Given the description of an element on the screen output the (x, y) to click on. 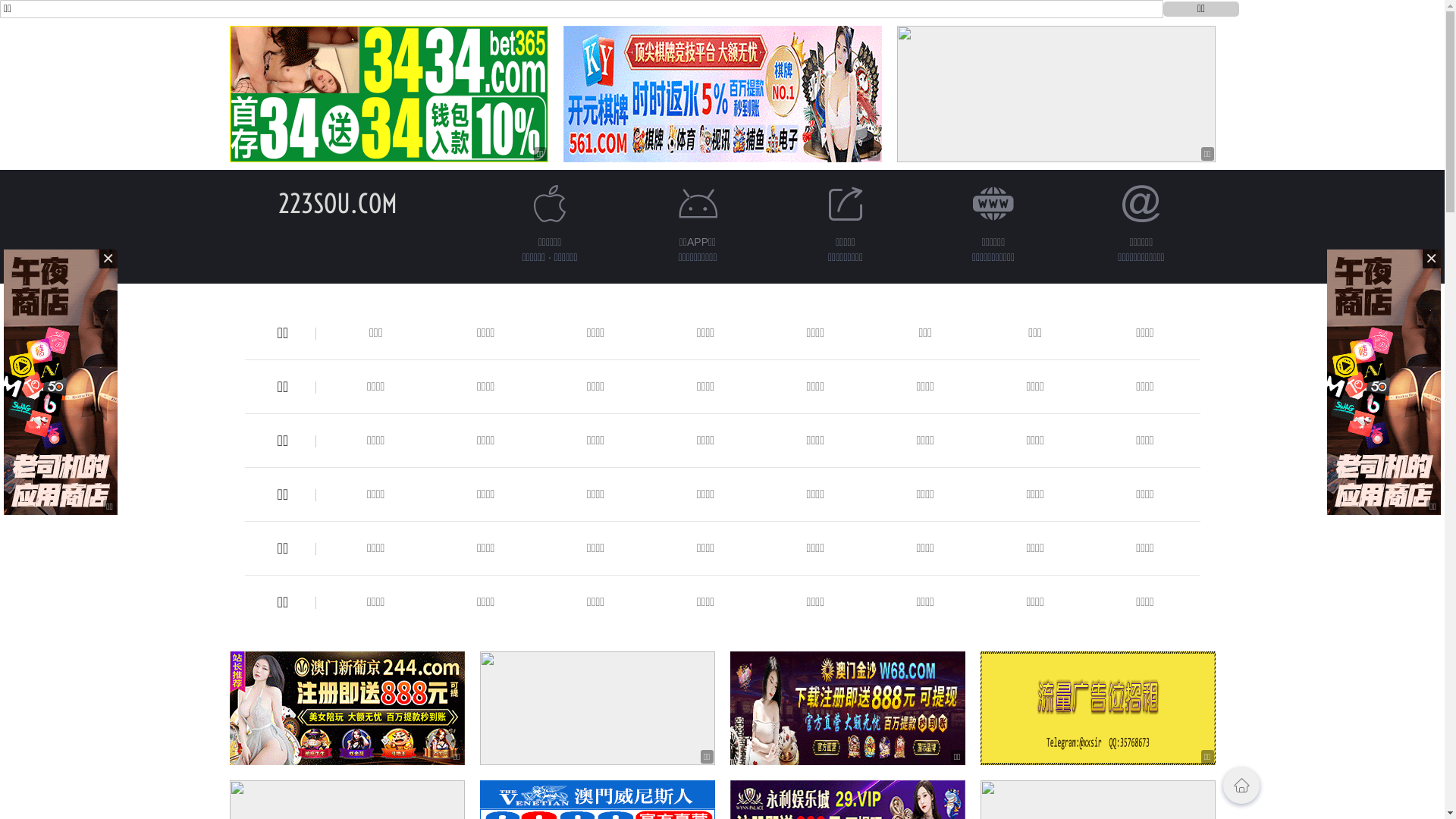
223SOU.COM Element type: text (337, 203)
